Given the description of an element on the screen output the (x, y) to click on. 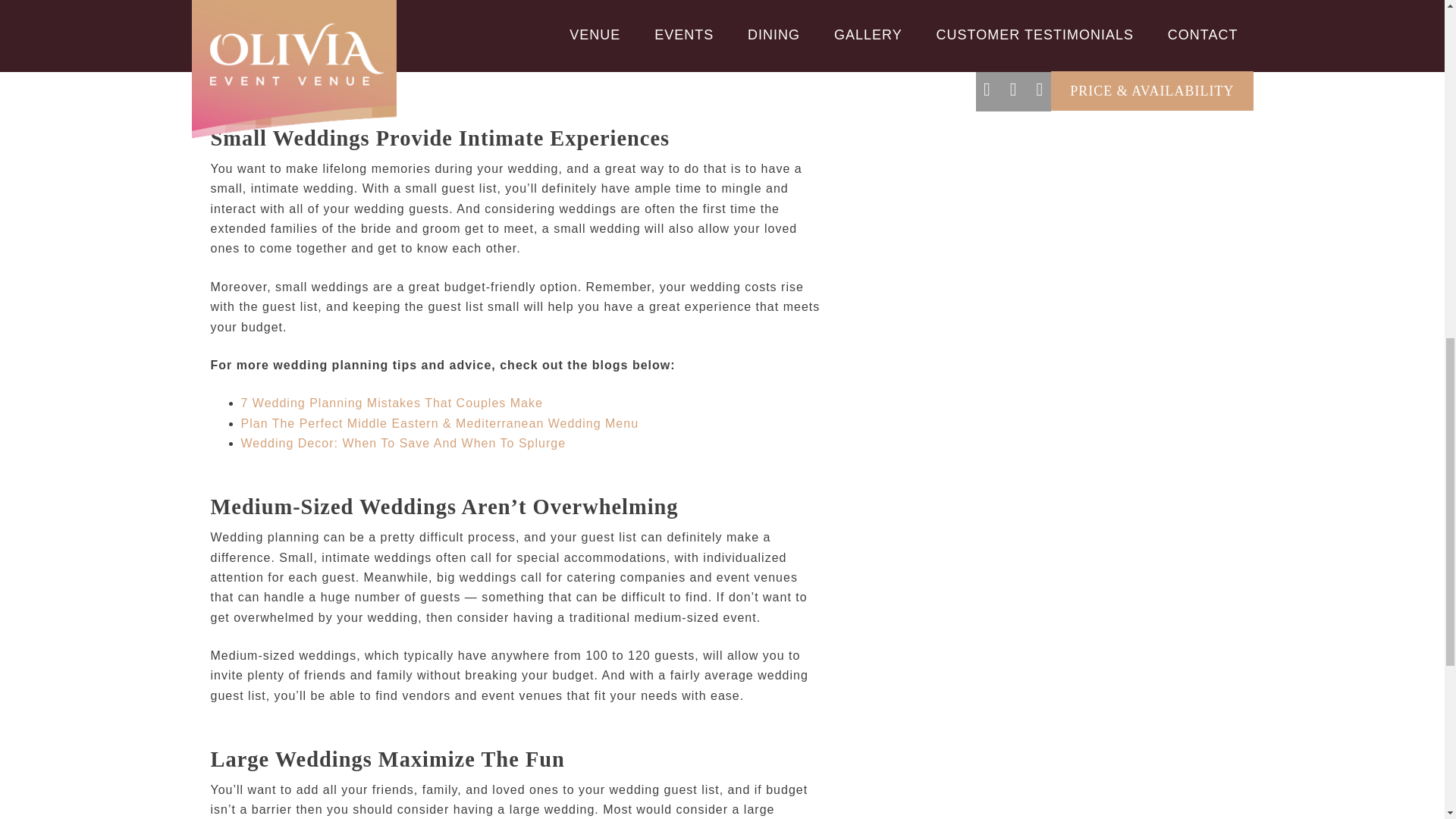
Wedding Decor: When To Save And When To Splurge (403, 442)
Which Celebrity Couples Chose To Have A Small Wedding? (1044, 23)
7 Wedding Planning Mistakes That Couples Make (392, 402)
